Given the description of an element on the screen output the (x, y) to click on. 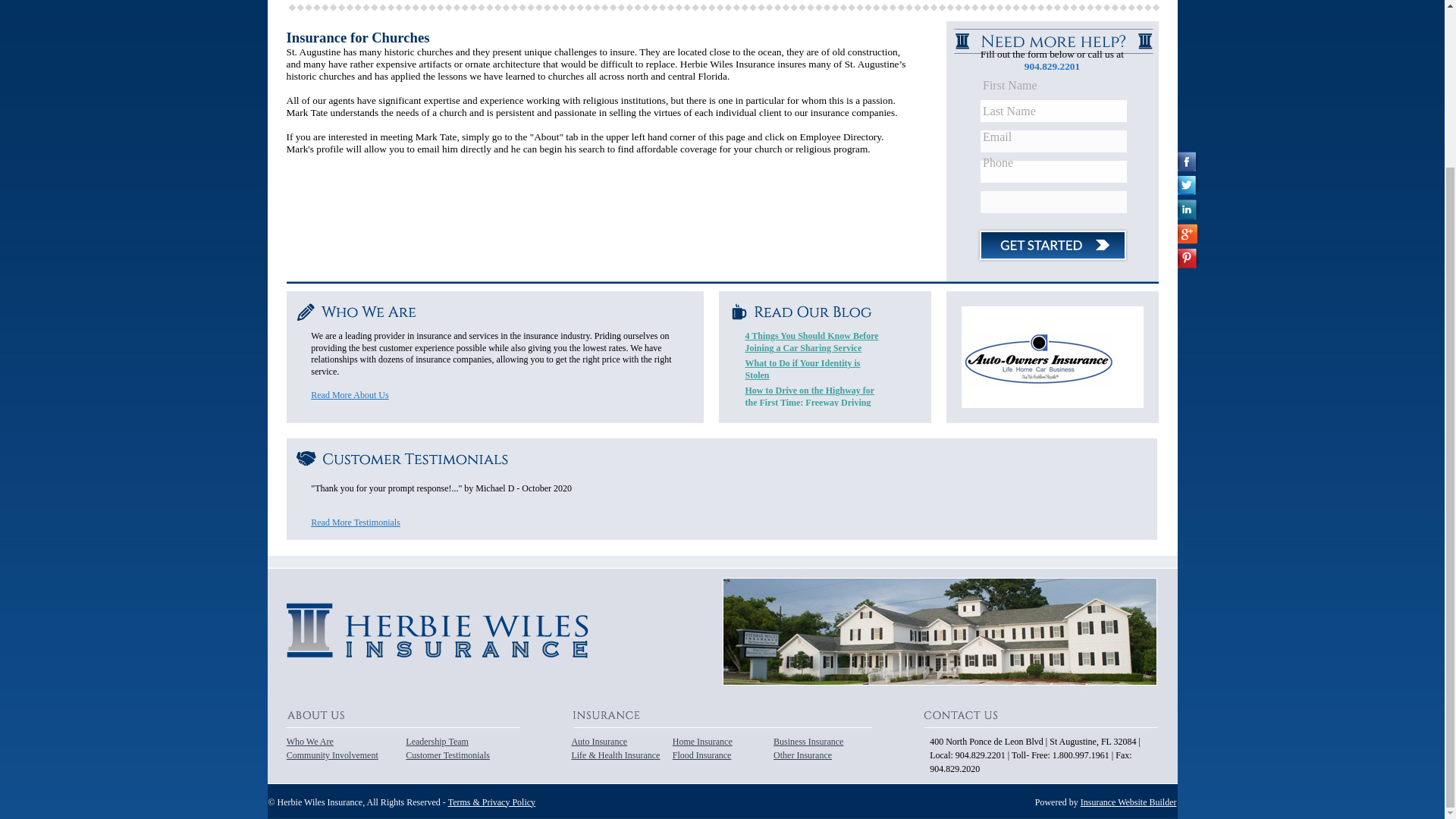
Auto Insurance (598, 741)
Insurance Website Builder (1128, 801)
Read More About Us (349, 394)
What to Do if Your Identity is Stolen (802, 368)
Who We Are (309, 741)
Leadership Team (437, 741)
Read More Testimonials (355, 521)
Customer Testimonials (447, 755)
Community Involvement (332, 755)
